Given the description of an element on the screen output the (x, y) to click on. 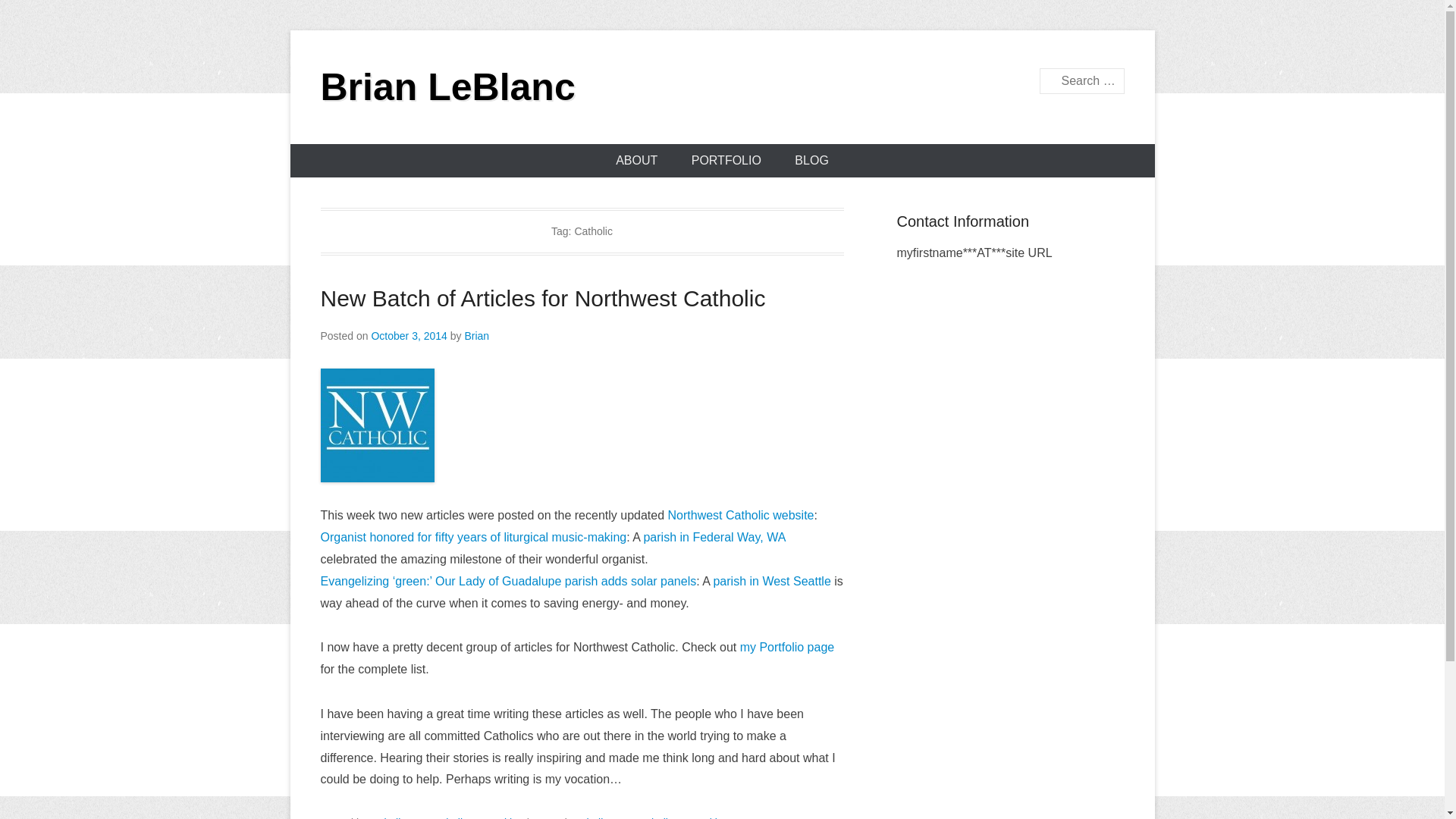
Organist honored for fifty years of liturgical music-making (473, 536)
Catholic (589, 817)
NW Catholic (643, 817)
17:21 (408, 336)
my Portfolio page (786, 646)
October 3, 2014 (408, 336)
On Writing (499, 817)
Search (32, 15)
parish in West Seattle (771, 581)
Northwest Catholic website (740, 514)
View all posts by Brian (476, 336)
New Batch of Articles for Northwest Catholic (542, 298)
PORTFOLIO (726, 160)
NWCatholic (439, 817)
